Given the description of an element on the screen output the (x, y) to click on. 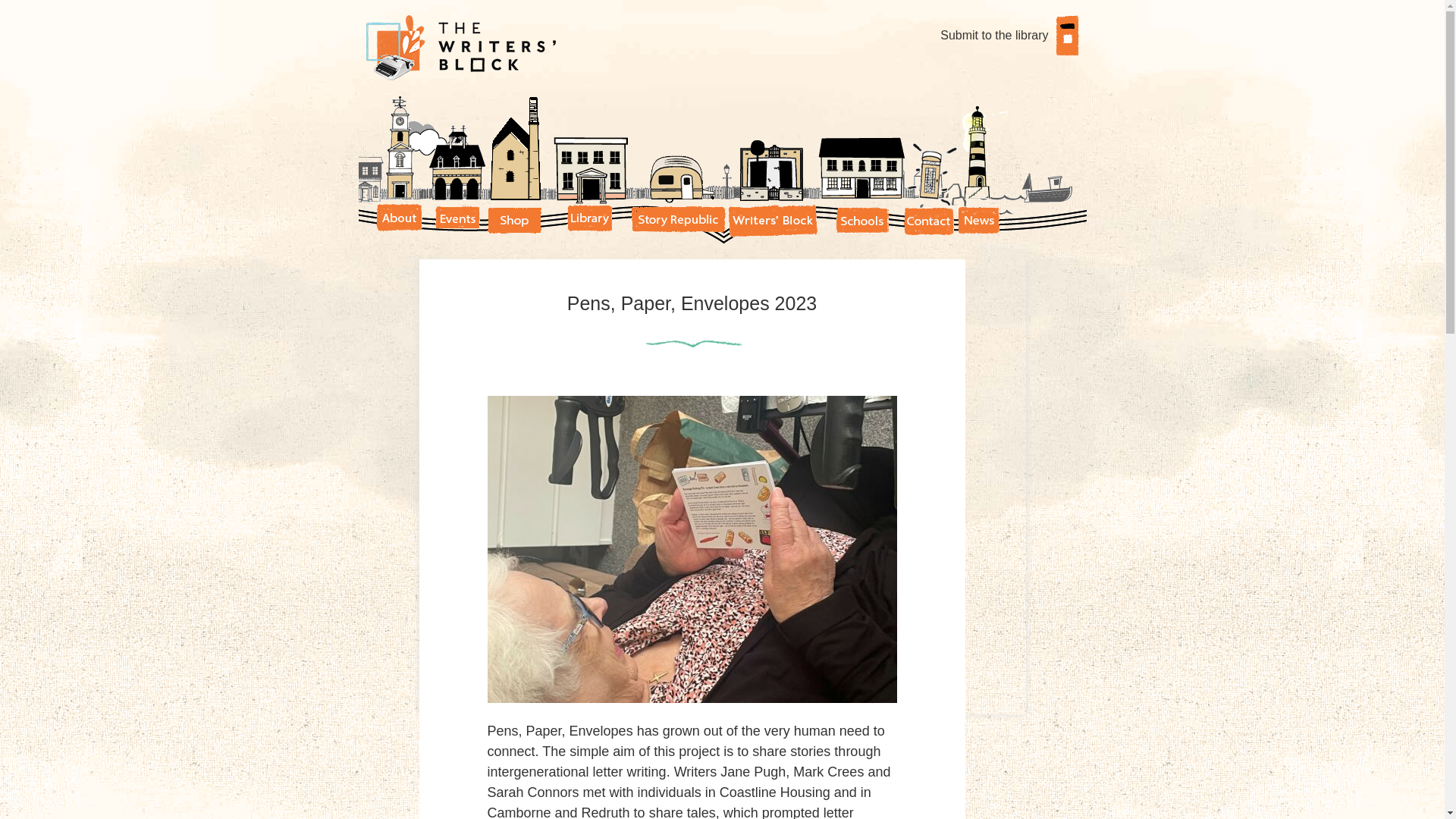
Submit to the library (1009, 35)
Submit to the library (1009, 35)
